Given the description of an element on the screen output the (x, y) to click on. 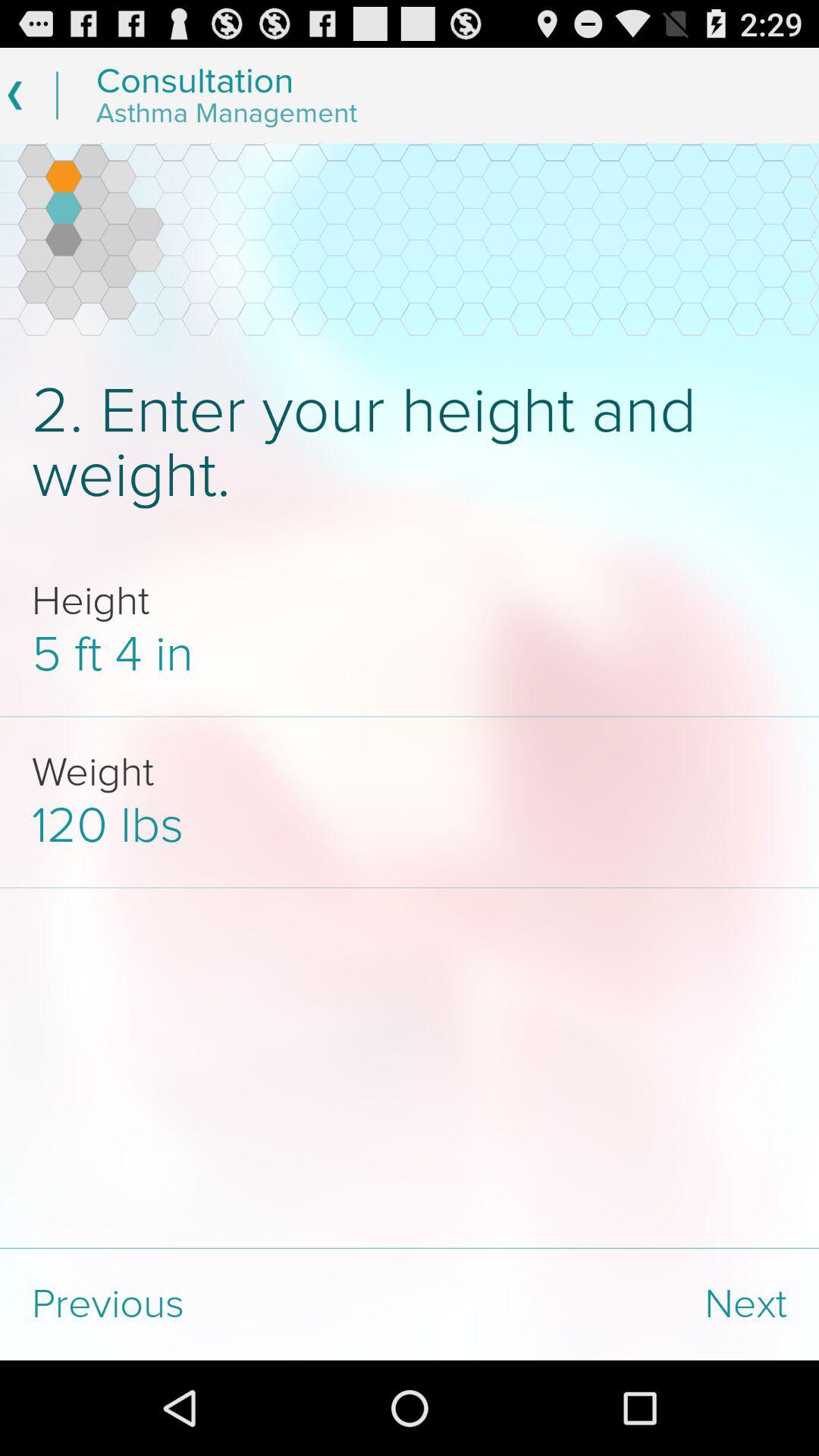
choose app below weight icon (409, 825)
